Given the description of an element on the screen output the (x, y) to click on. 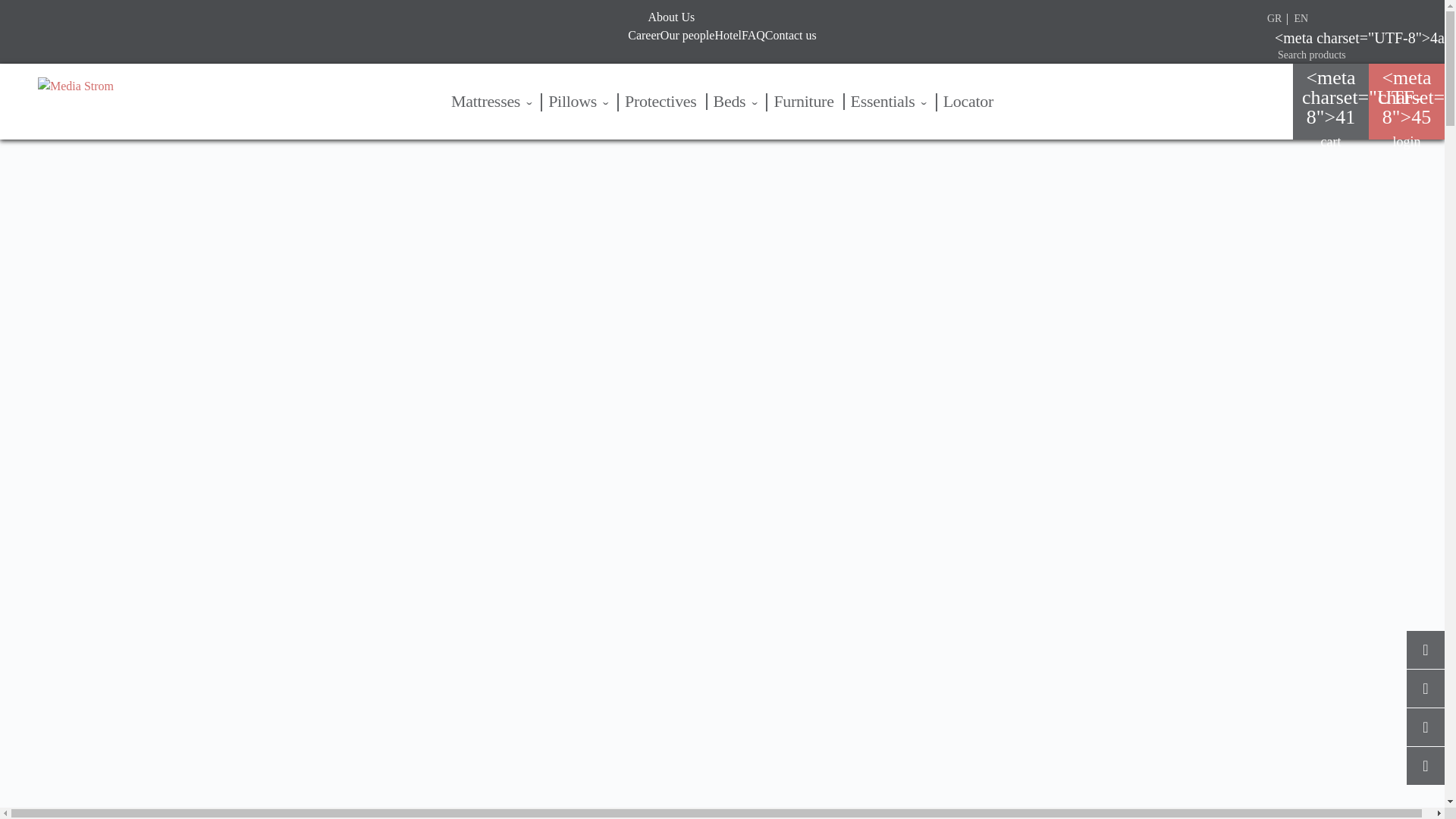
Hotel (727, 35)
Our people (687, 35)
Search (22, 11)
FAQ (753, 35)
About Us (670, 17)
EN (1300, 18)
Contact us (790, 35)
Career (644, 35)
GR (1273, 18)
